Given the description of an element on the screen output the (x, y) to click on. 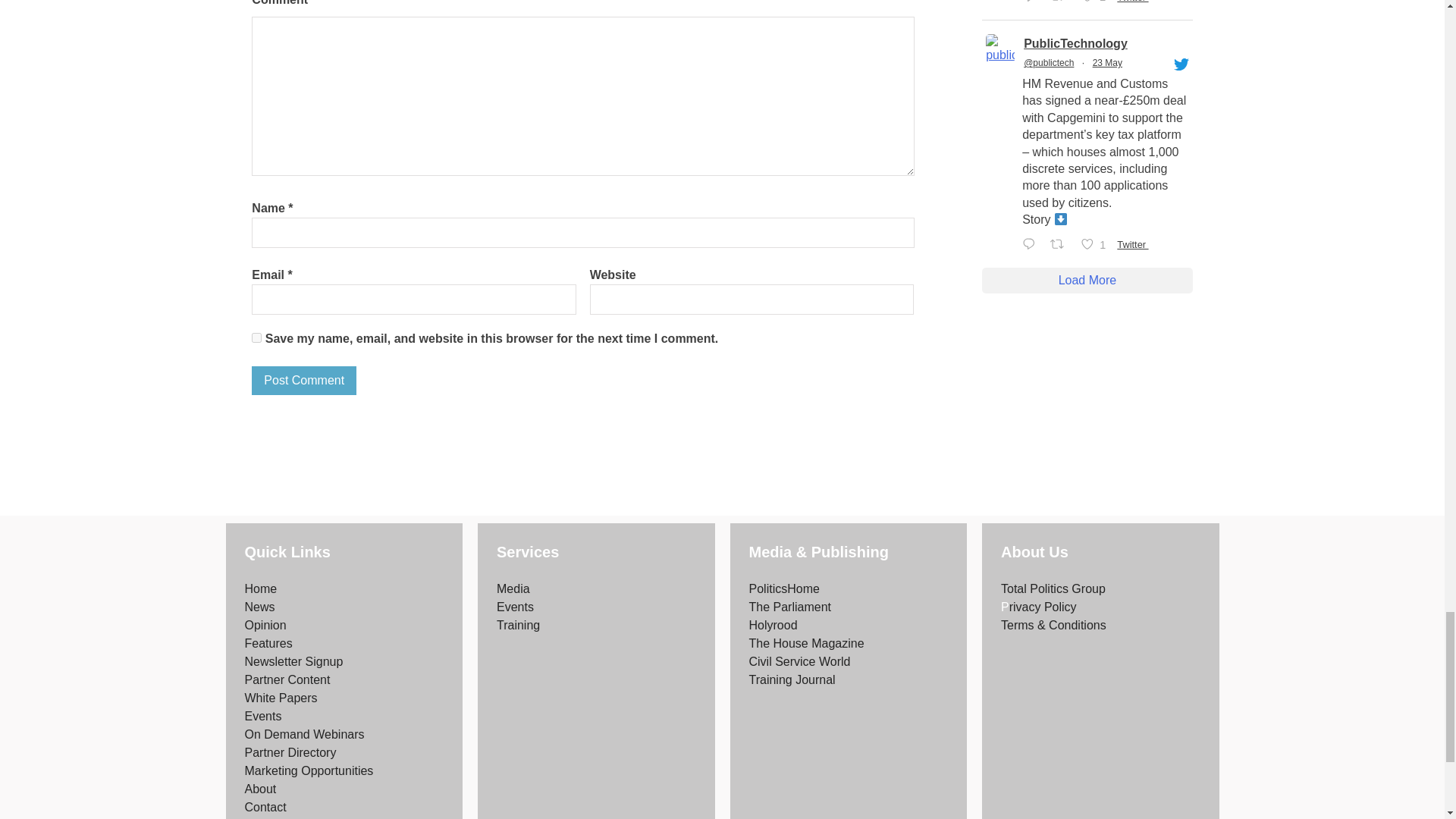
Post Comment (303, 380)
yes (256, 337)
